Given the description of an element on the screen output the (x, y) to click on. 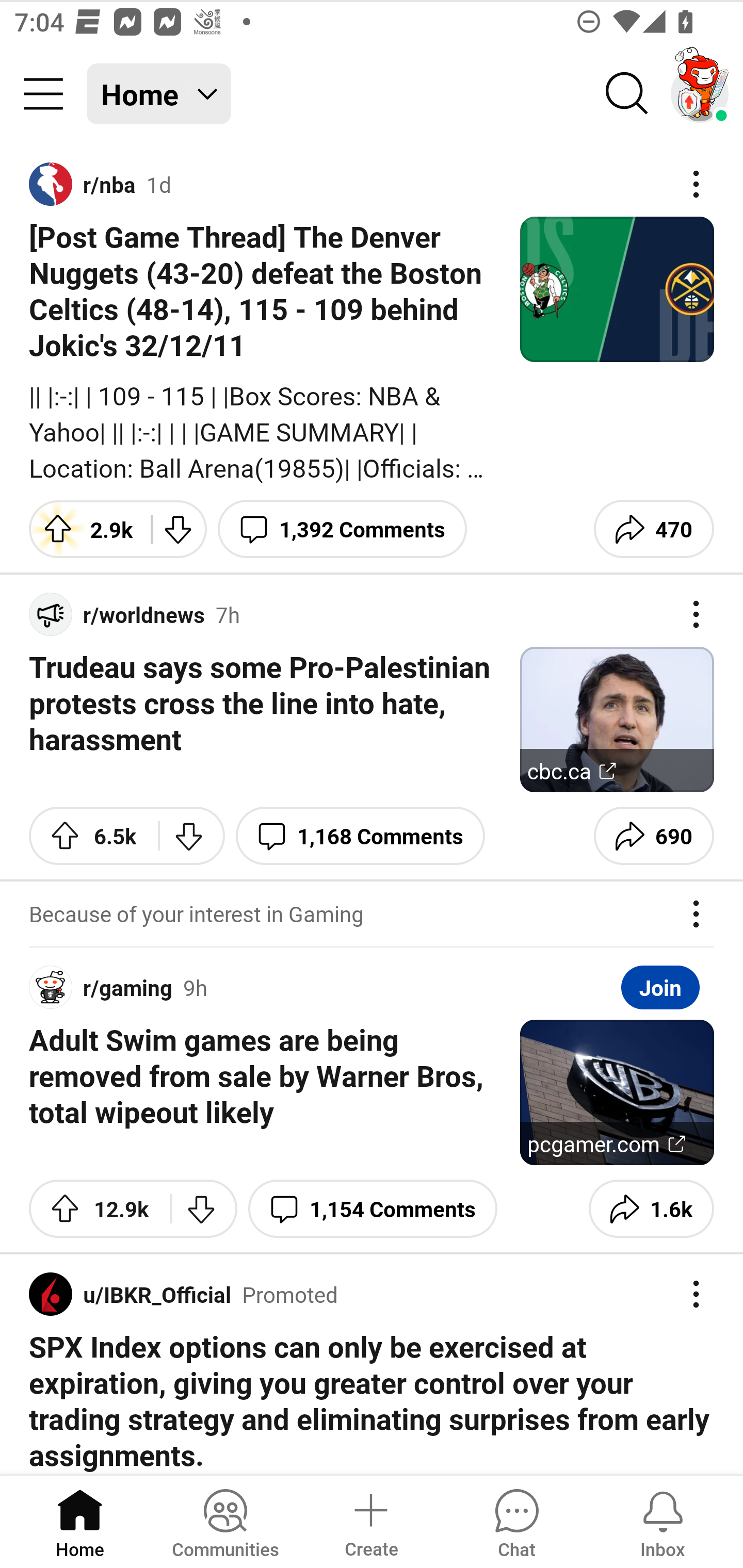
Community menu (43, 93)
Home Home feed (158, 93)
Search (626, 93)
TestAppium002 account (699, 93)
Home (80, 1520)
Communities (225, 1520)
Create a post Create (370, 1520)
Chat (516, 1520)
Inbox (662, 1520)
